Given the description of an element on the screen output the (x, y) to click on. 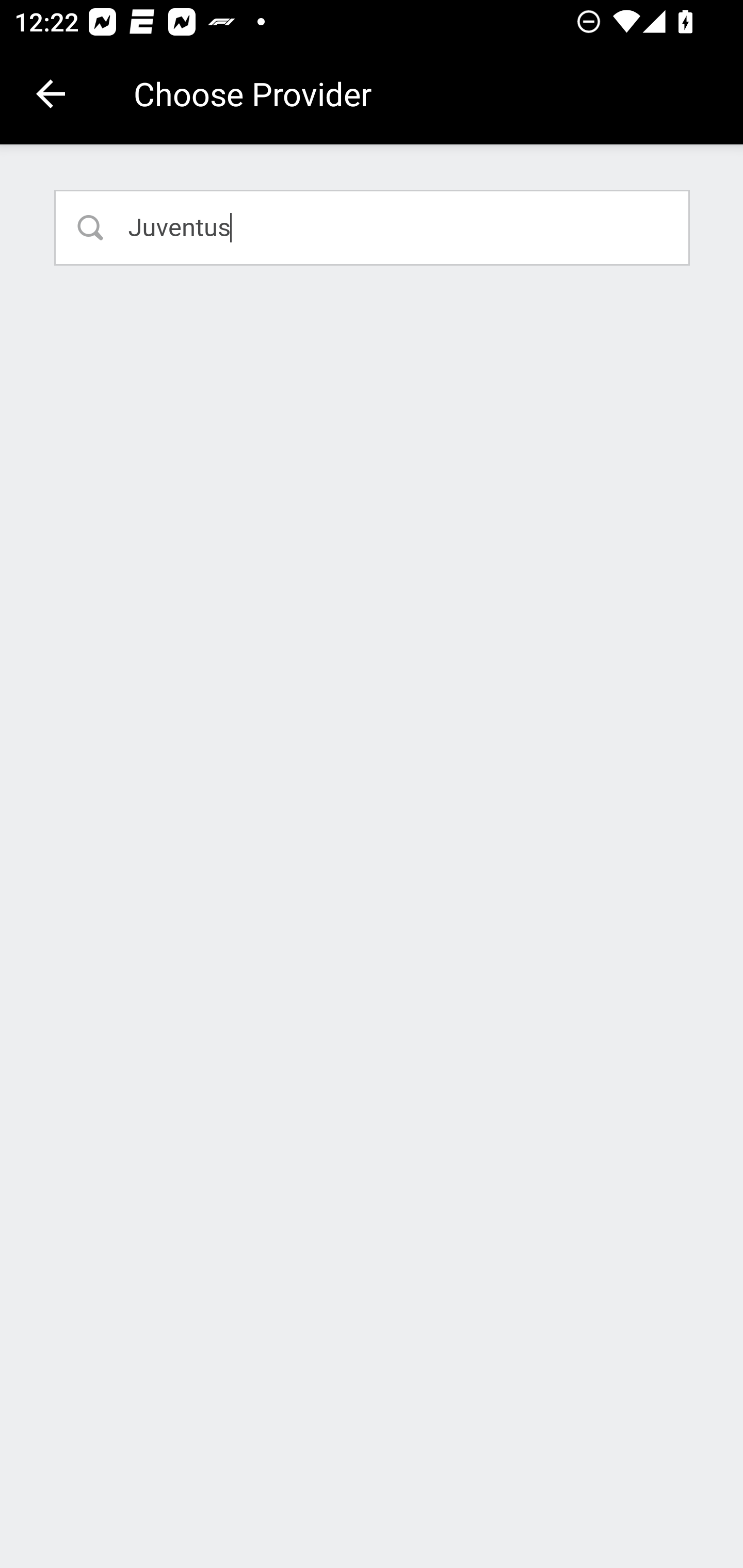
Navigate up (50, 93)
Juventus (372, 227)
